Given the description of an element on the screen output the (x, y) to click on. 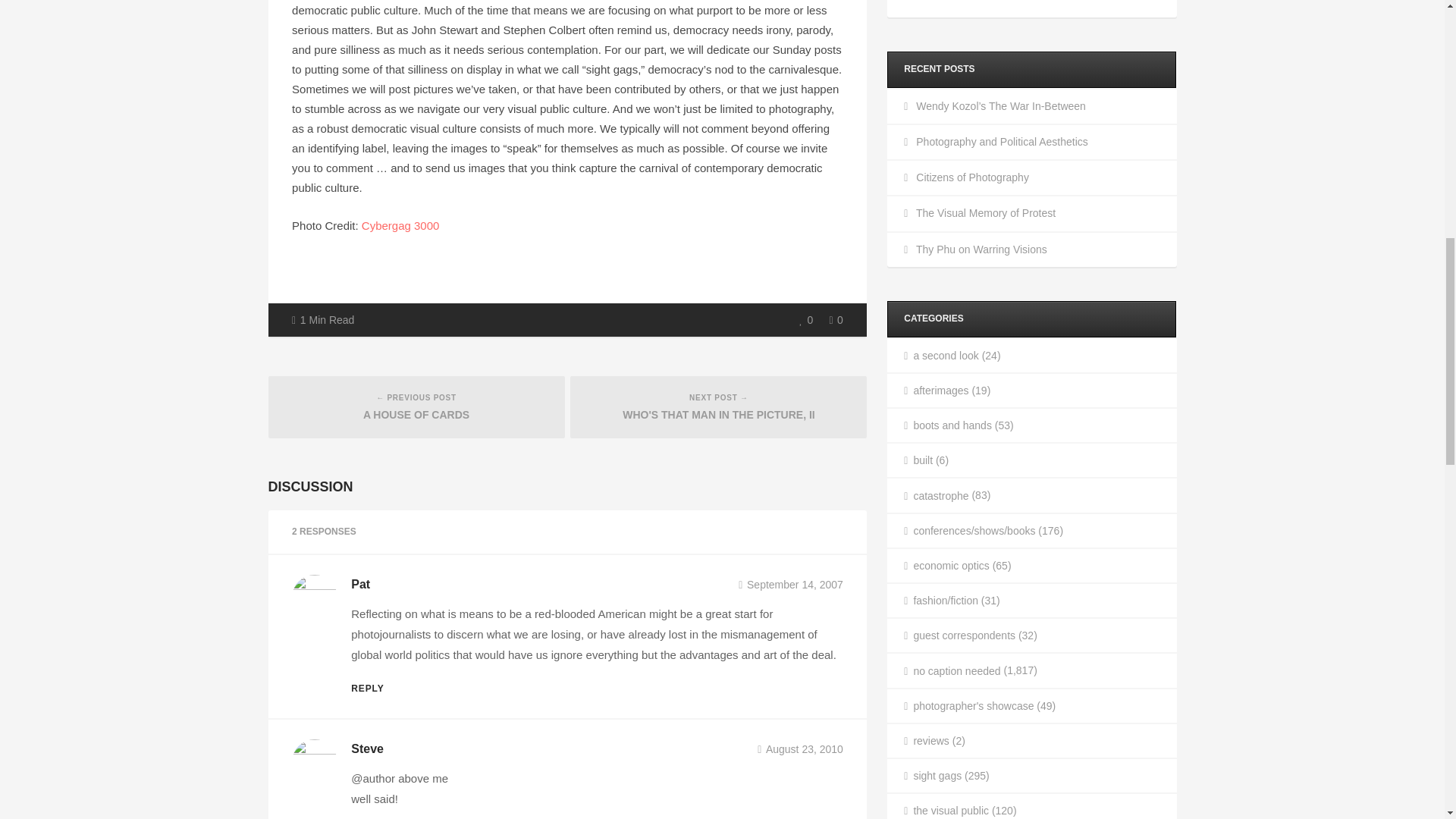
August 23, 2010 (800, 748)
September 14, 2007 (790, 584)
0 (835, 320)
Shares (835, 320)
Cybergag 3000 (400, 225)
Steve (367, 748)
I like this (805, 320)
REPLY (367, 688)
0 (805, 320)
